Given the description of an element on the screen output the (x, y) to click on. 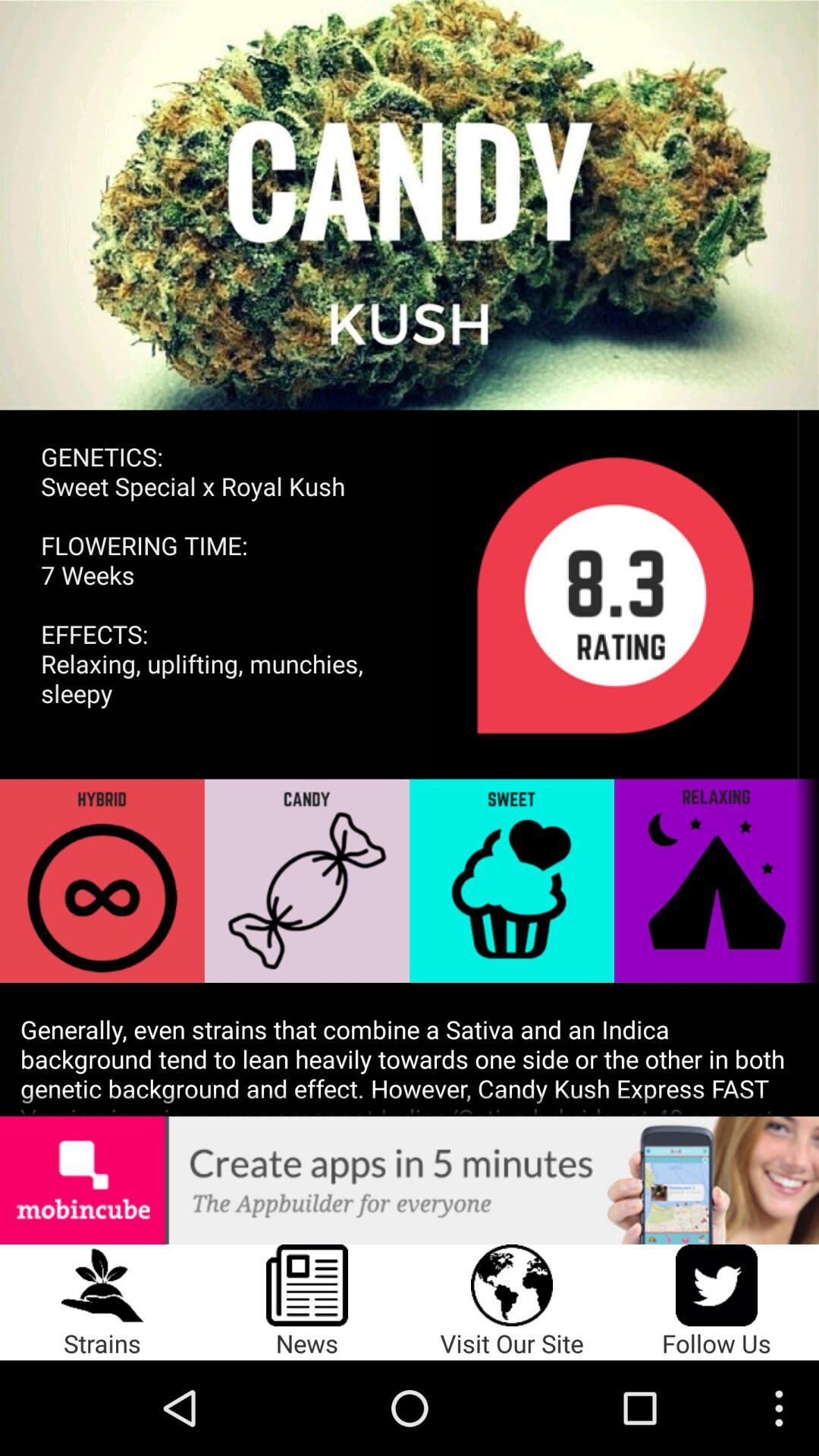
visit advertisement (409, 1180)
